Given the description of an element on the screen output the (x, y) to click on. 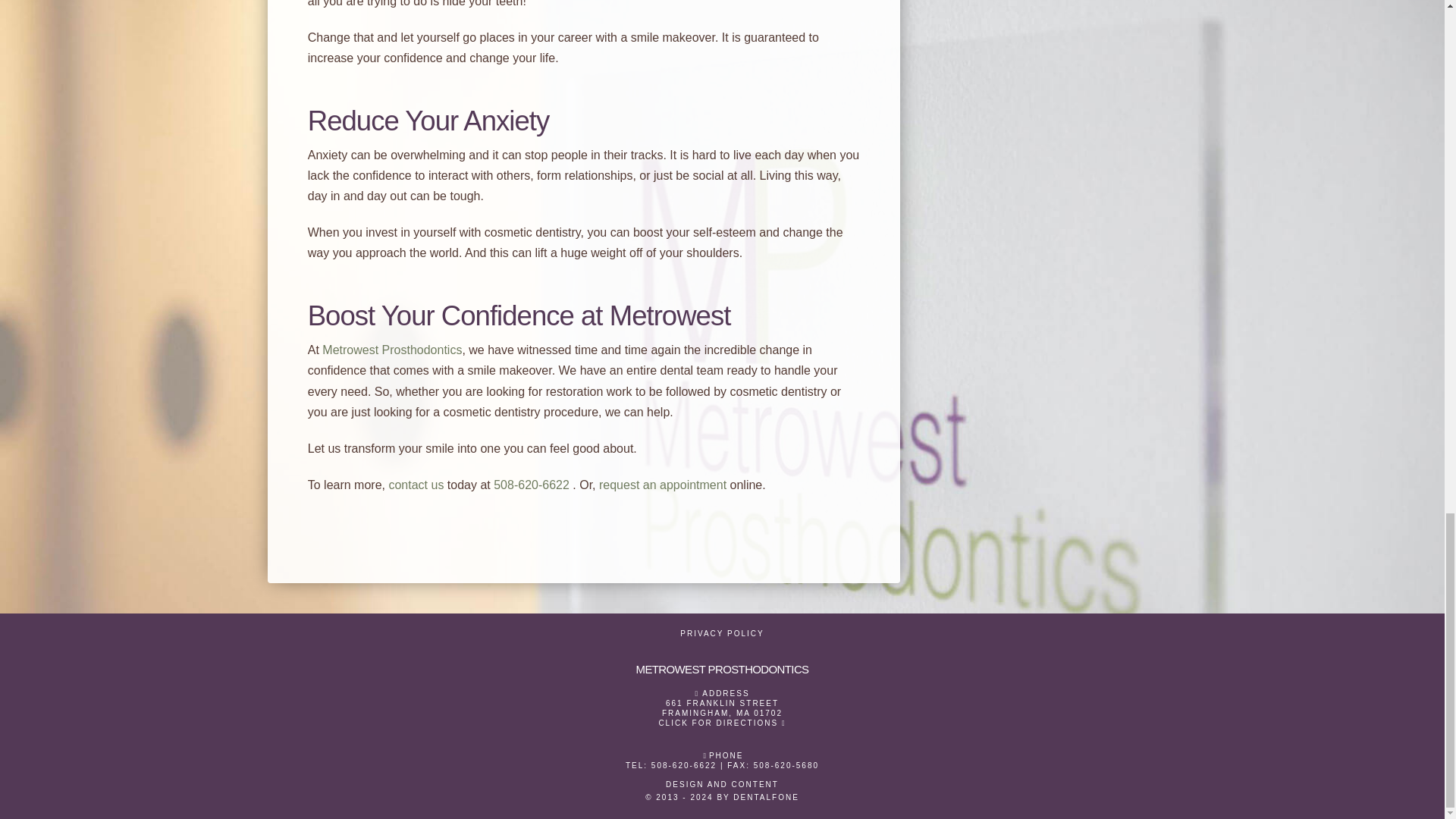
Dentalfone (722, 797)
Phone Number (532, 484)
